Given the description of an element on the screen output the (x, y) to click on. 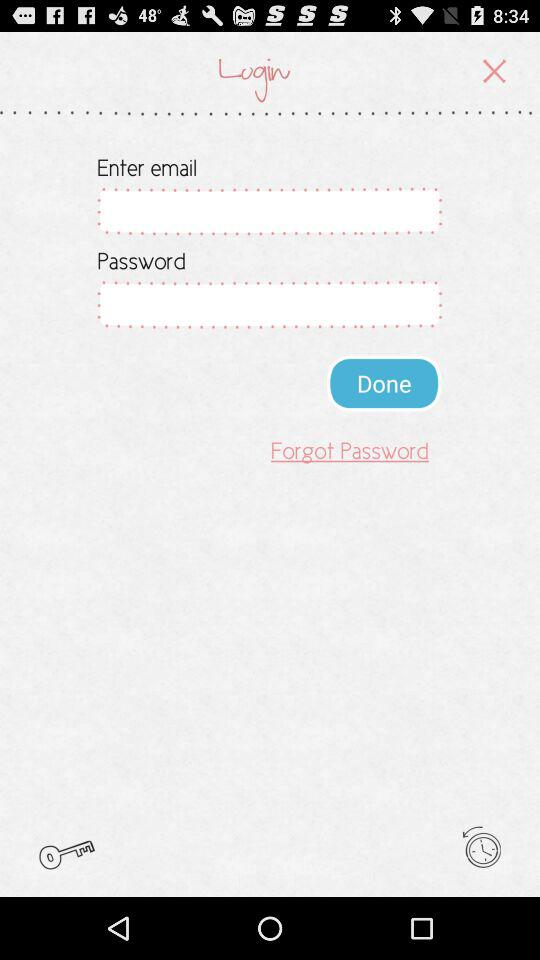
open the done icon (384, 382)
